Given the description of an element on the screen output the (x, y) to click on. 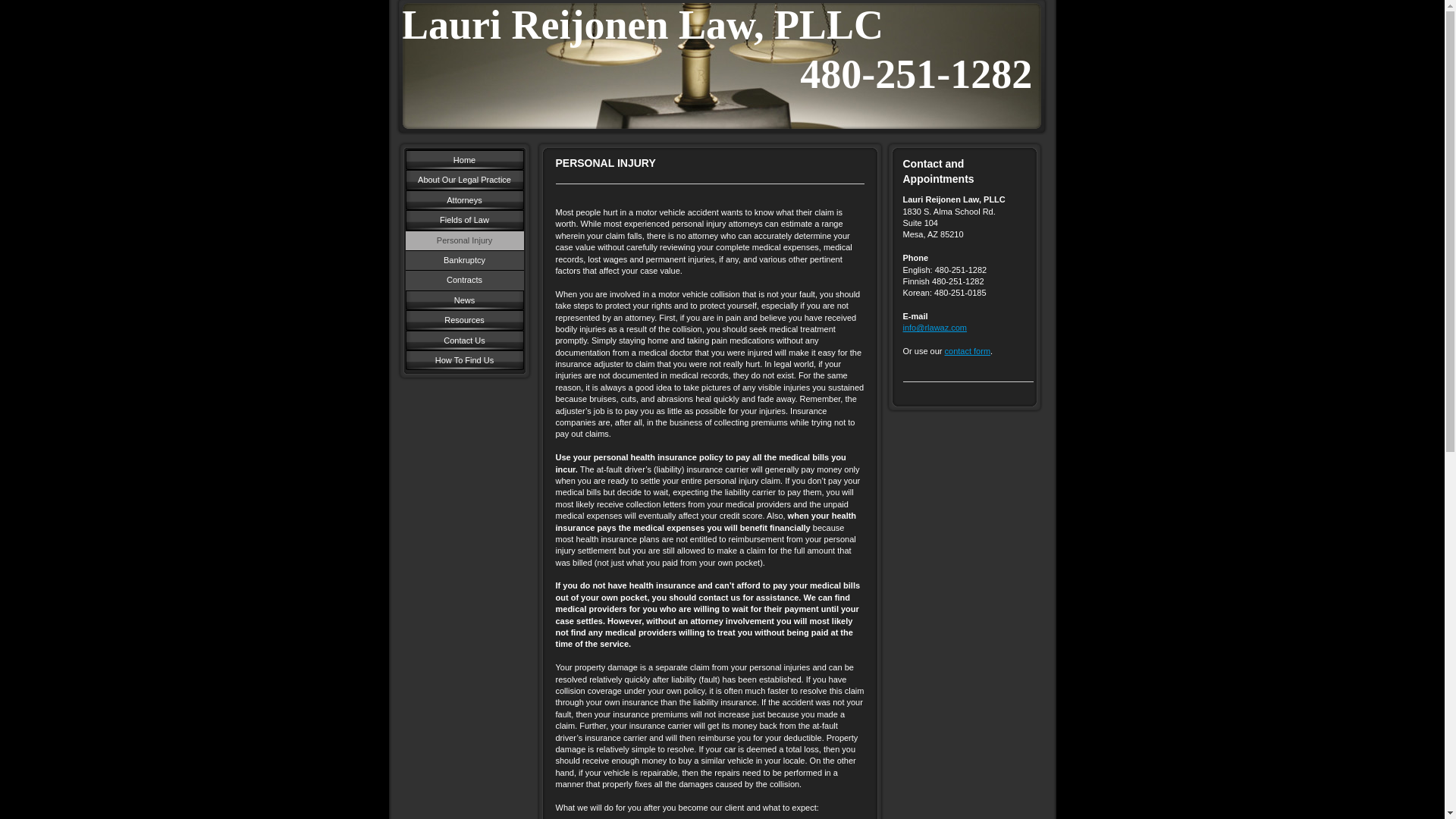
Contact Us (463, 340)
News (463, 300)
Home (463, 159)
contact form (967, 350)
Personal Injury (463, 240)
Contracts (463, 279)
Resources (463, 320)
Attorneys (463, 199)
How To Find Us (463, 360)
Fields of Law (463, 219)
About Our Legal Practice (463, 179)
Bankruptcy (463, 260)
